Given the description of an element on the screen output the (x, y) to click on. 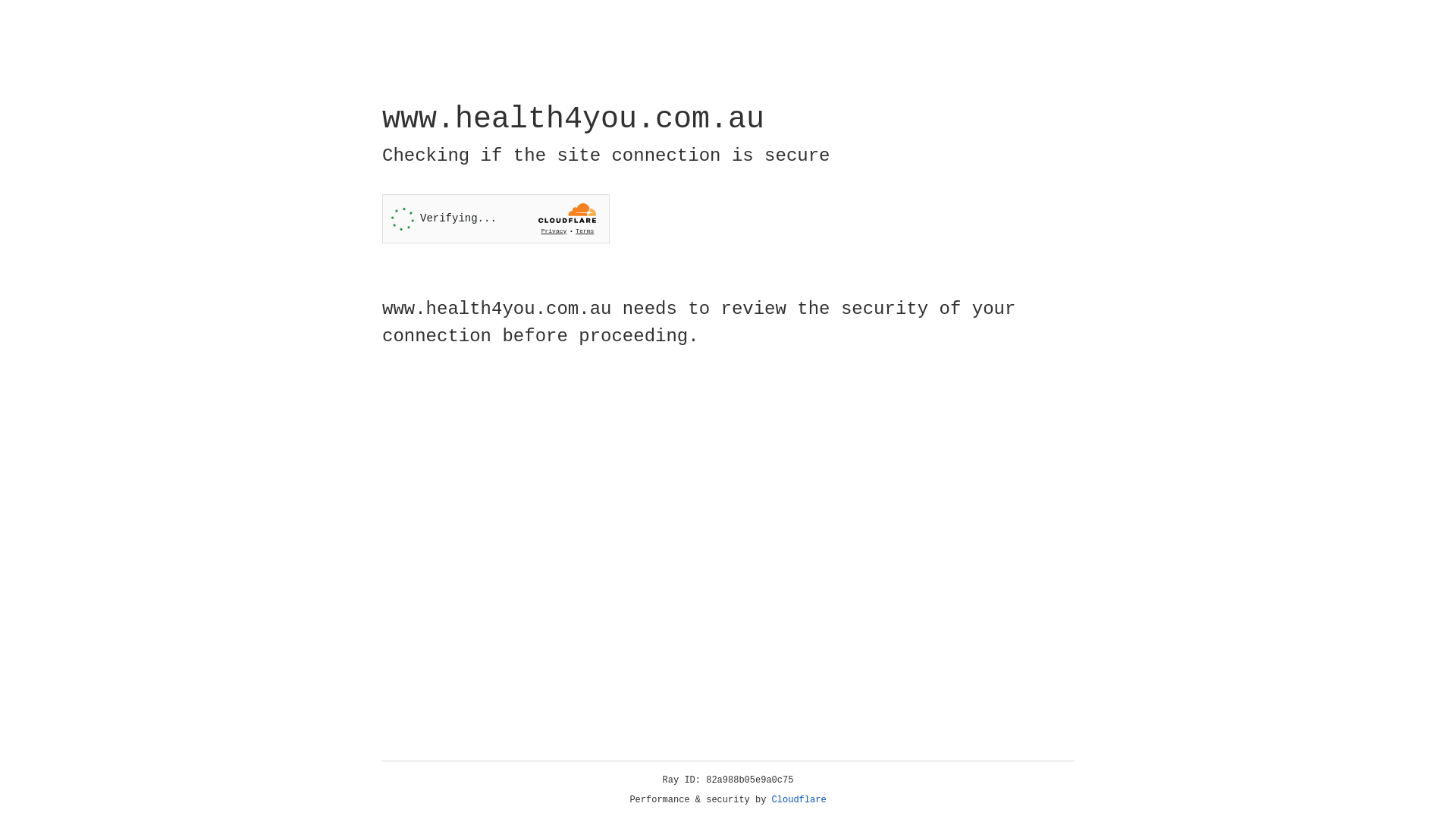
Widget containing a Cloudflare security challenge Element type: hover (495, 218)
Cloudflare Element type: text (798, 799)
